Given the description of an element on the screen output the (x, y) to click on. 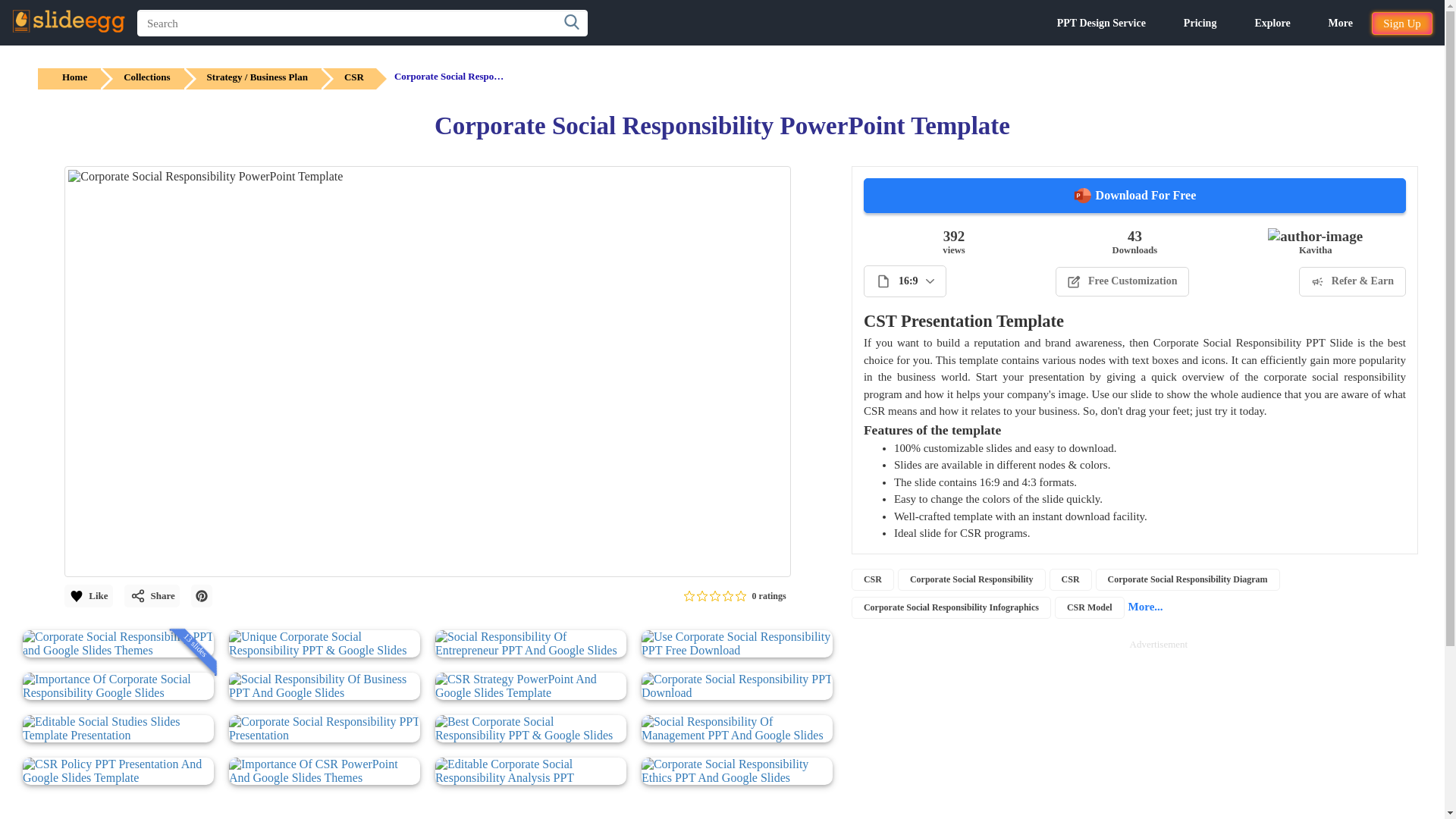
Pricing (1200, 22)
SlideEgg (68, 21)
PPT Design Service (1101, 22)
Explore (1271, 22)
